Given the description of an element on the screen output the (x, y) to click on. 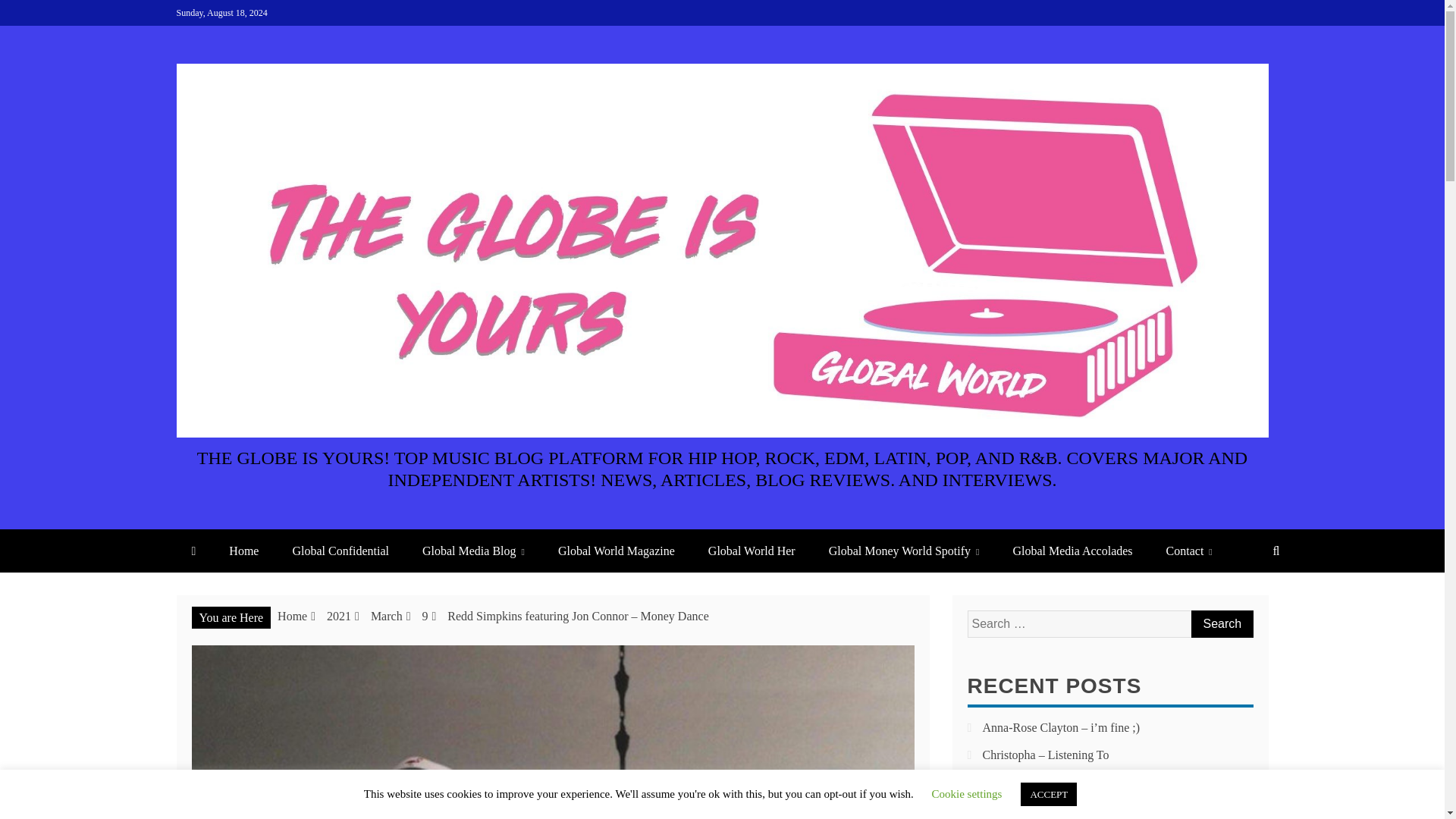
Search (1221, 624)
Contact (1189, 550)
Home (243, 550)
Global Confidential (340, 550)
March (387, 615)
Home (292, 615)
Global Media Blog (473, 550)
Global World Magazine (616, 550)
Global World Her (751, 550)
Search (1221, 624)
